Given the description of an element on the screen output the (x, y) to click on. 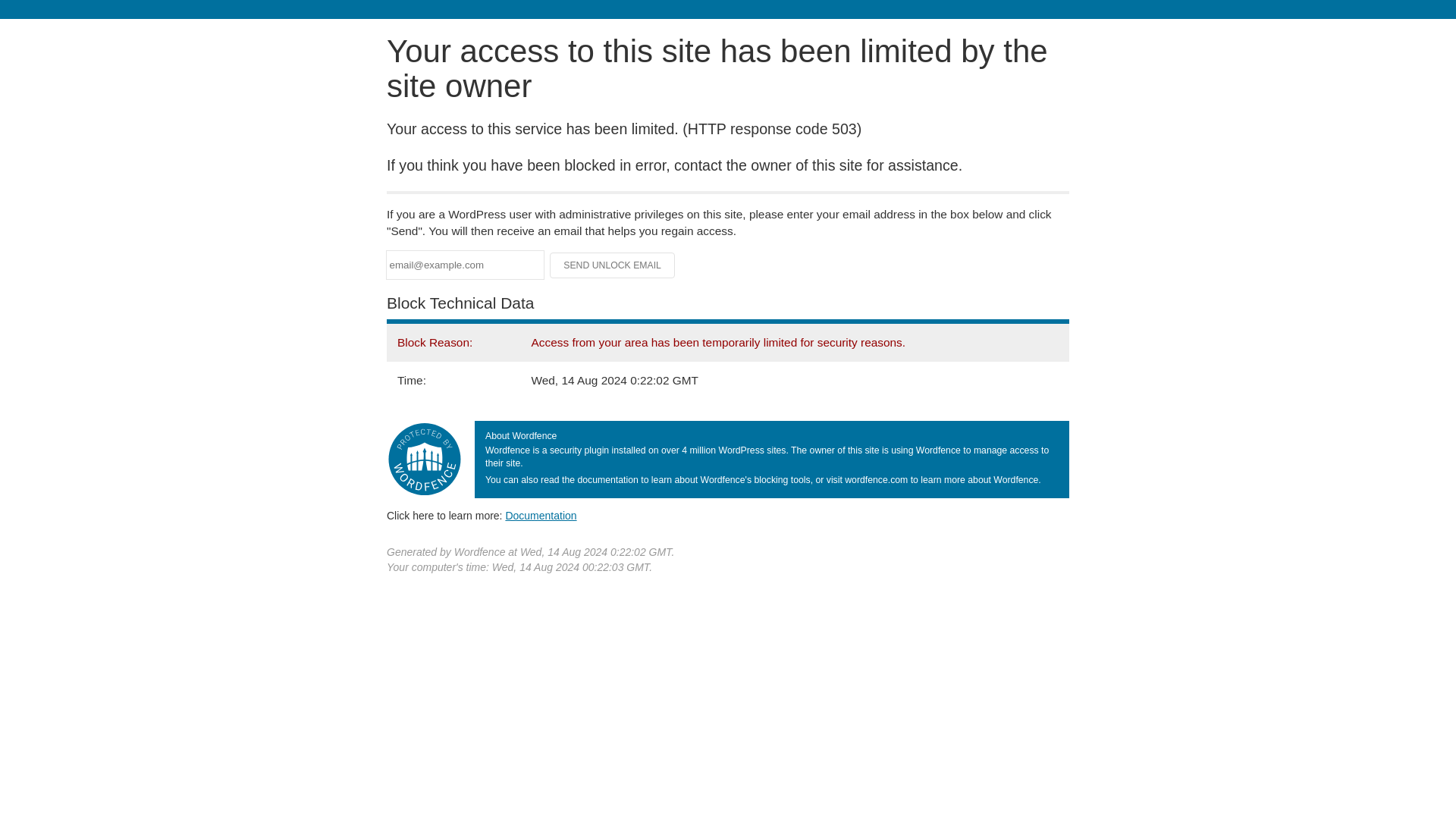
Documentation (540, 515)
Send Unlock Email (612, 265)
Send Unlock Email (612, 265)
